Given the description of an element on the screen output the (x, y) to click on. 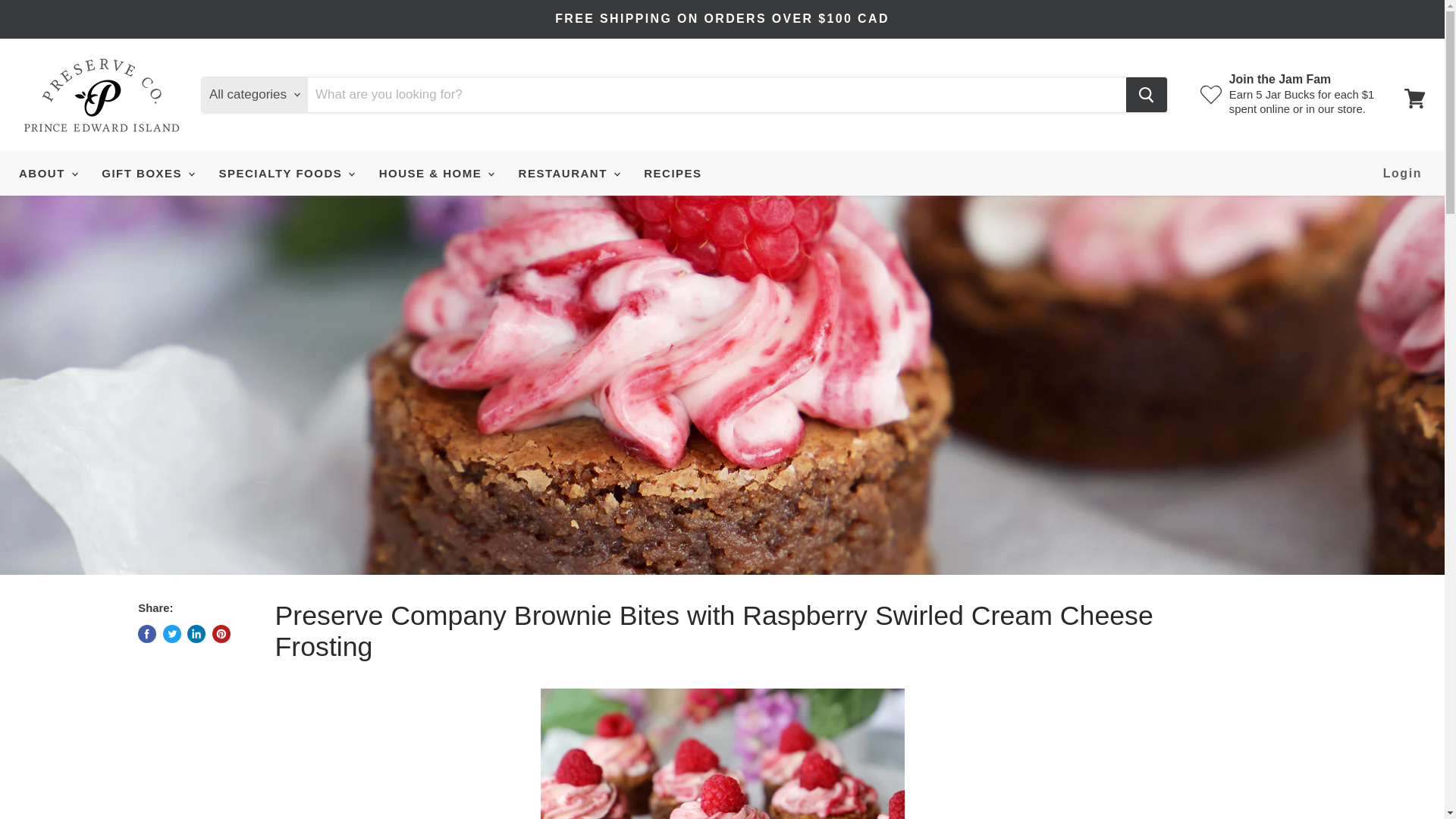
View cart (1414, 98)
ABOUT (47, 173)
SPECIALTY FOODS (284, 173)
GIFT BOXES (146, 173)
